Given the description of an element on the screen output the (x, y) to click on. 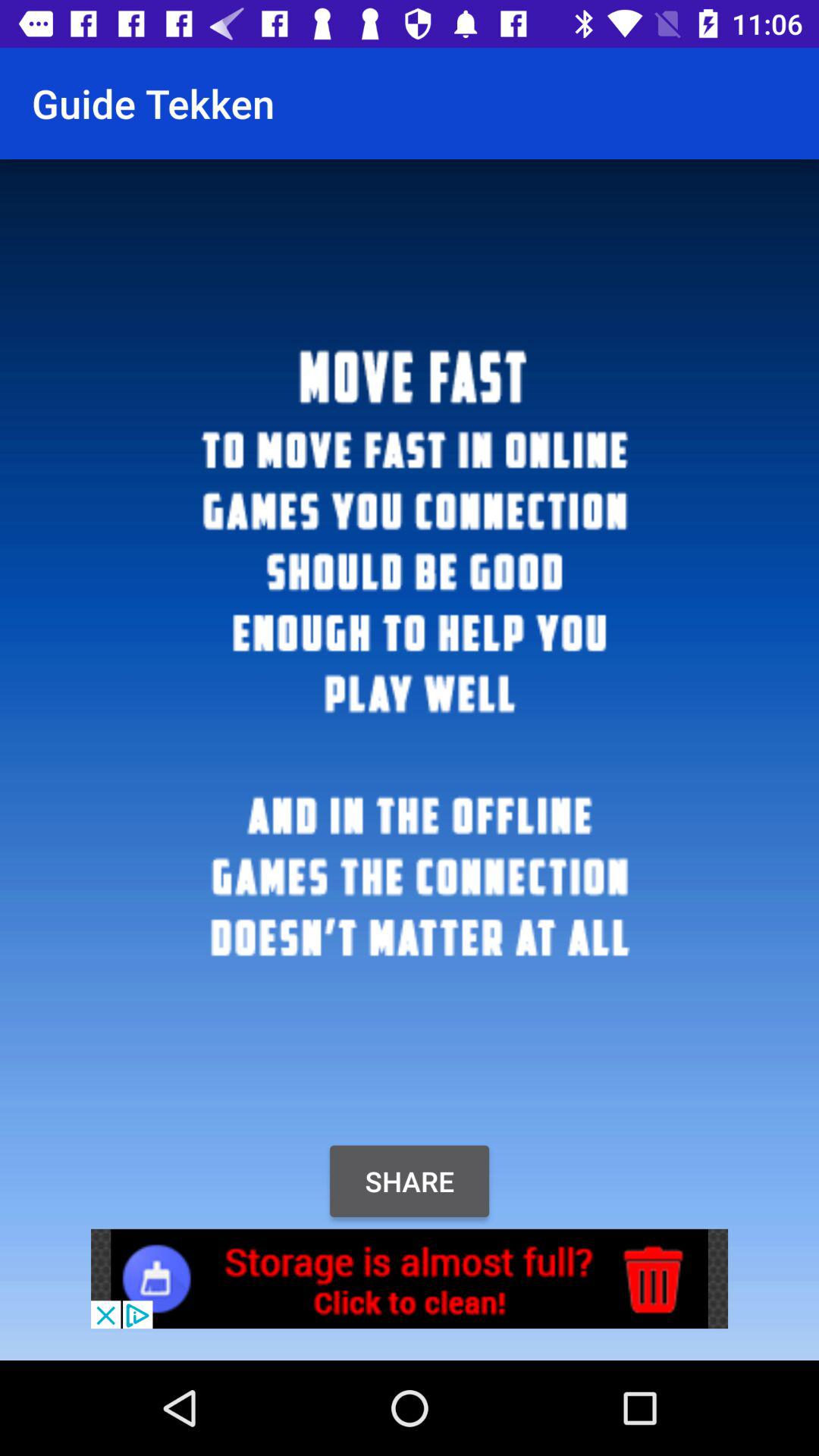
add banner (409, 1278)
